Given the description of an element on the screen output the (x, y) to click on. 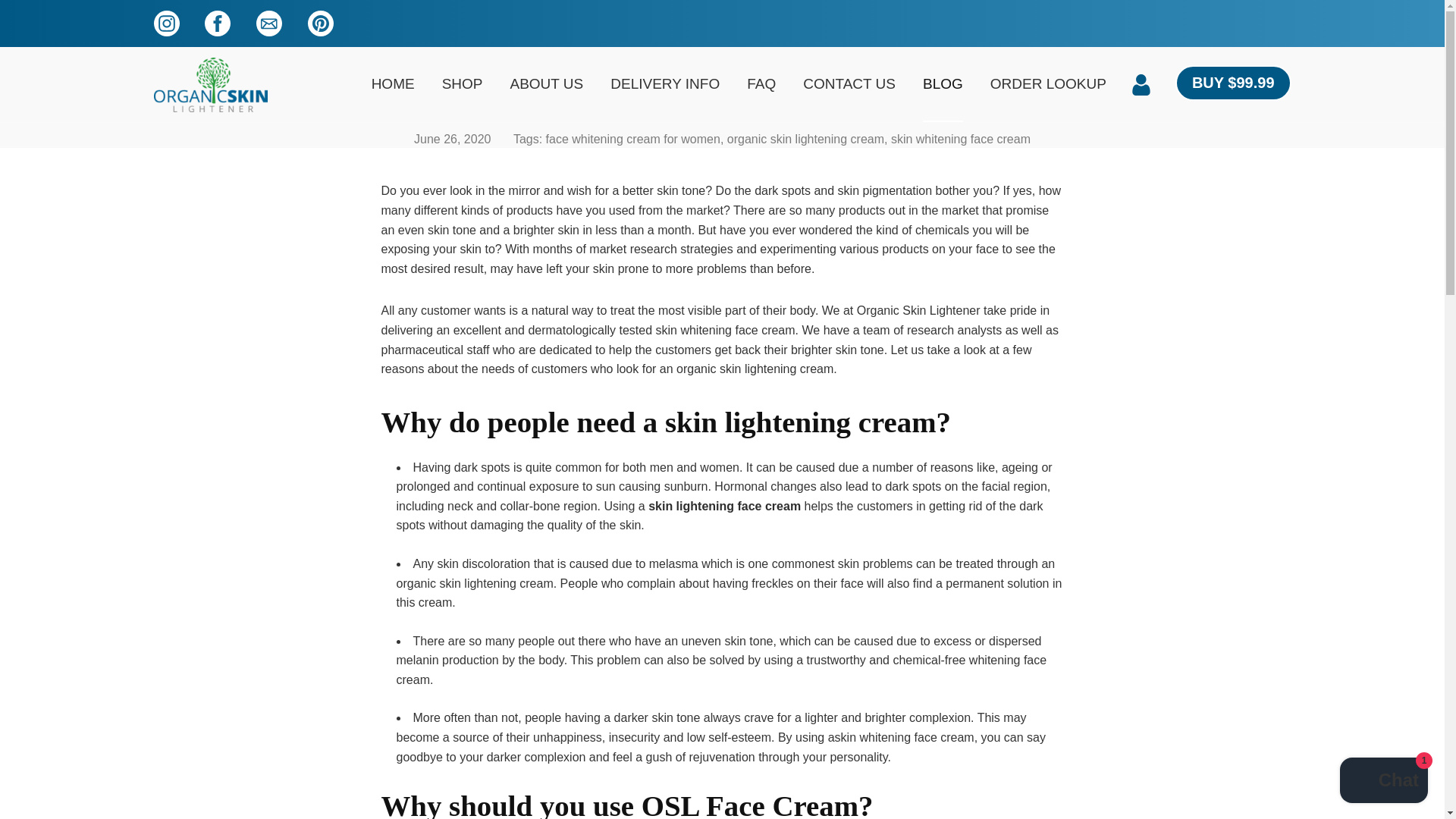
ORDER LOOKUP (1048, 83)
Shopify online store chat (1383, 781)
Show articles tagged face whitening cream for women (633, 138)
Show articles tagged skin whitening face cream (960, 138)
ABOUT US (545, 83)
Show articles tagged organic skin lightening cream (804, 138)
DELIVERY INFO (665, 83)
CONTACT US (849, 83)
